Given the description of an element on the screen output the (x, y) to click on. 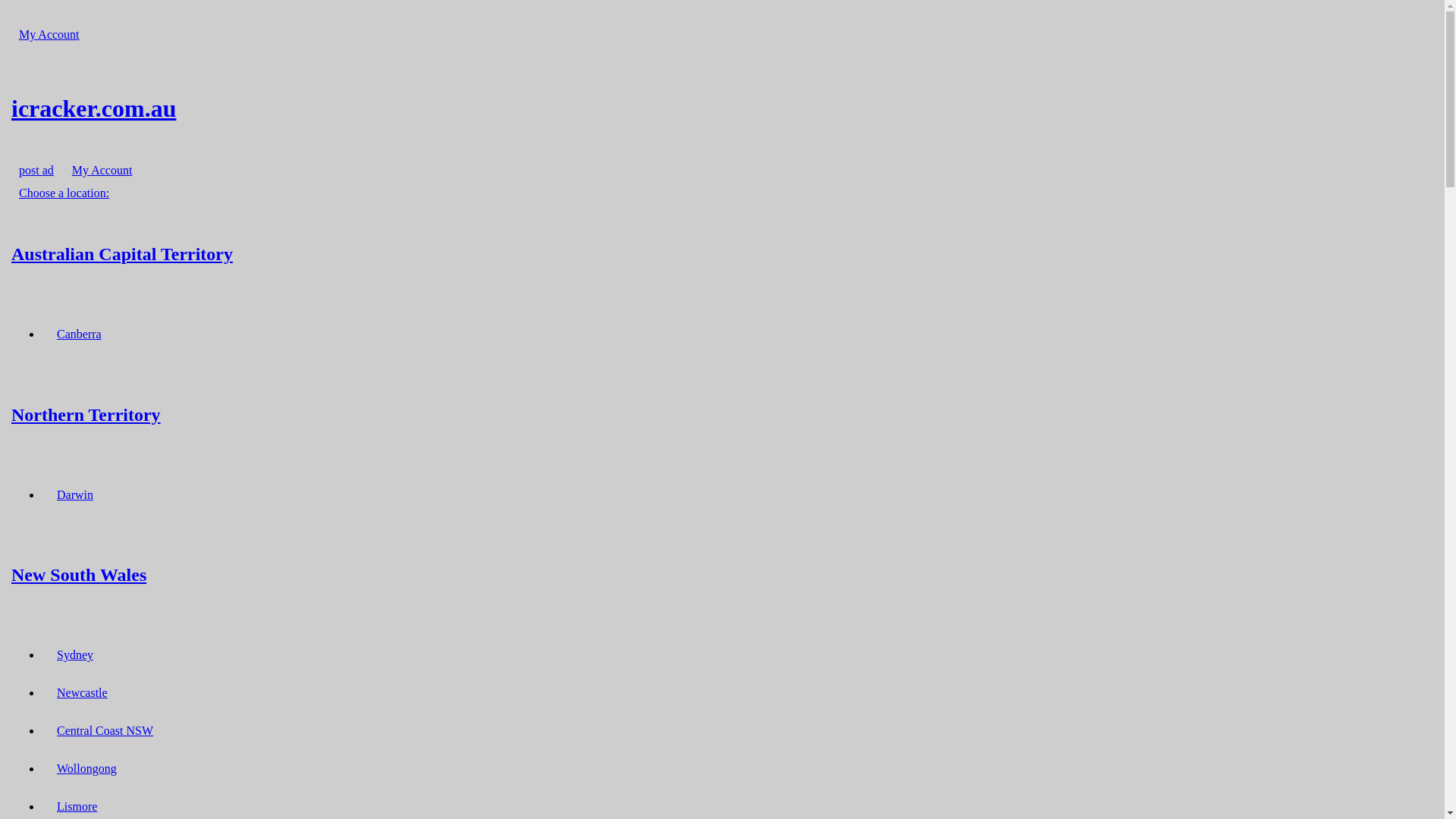
Darwin Element type: text (74, 494)
Sydney Element type: text (74, 654)
Australian Capital Territory Element type: text (722, 253)
My Account Element type: text (49, 34)
Canberra Element type: text (79, 334)
New South Wales Element type: text (722, 575)
Wollongong Element type: text (86, 768)
icracker.com.au Element type: text (722, 108)
Choose a location: Element type: text (63, 192)
My Account Element type: text (102, 170)
Central Coast NSW Element type: text (104, 730)
Northern Territory Element type: text (722, 414)
post ad Element type: text (36, 170)
Newcastle Element type: text (82, 692)
